Given the description of an element on the screen output the (x, y) to click on. 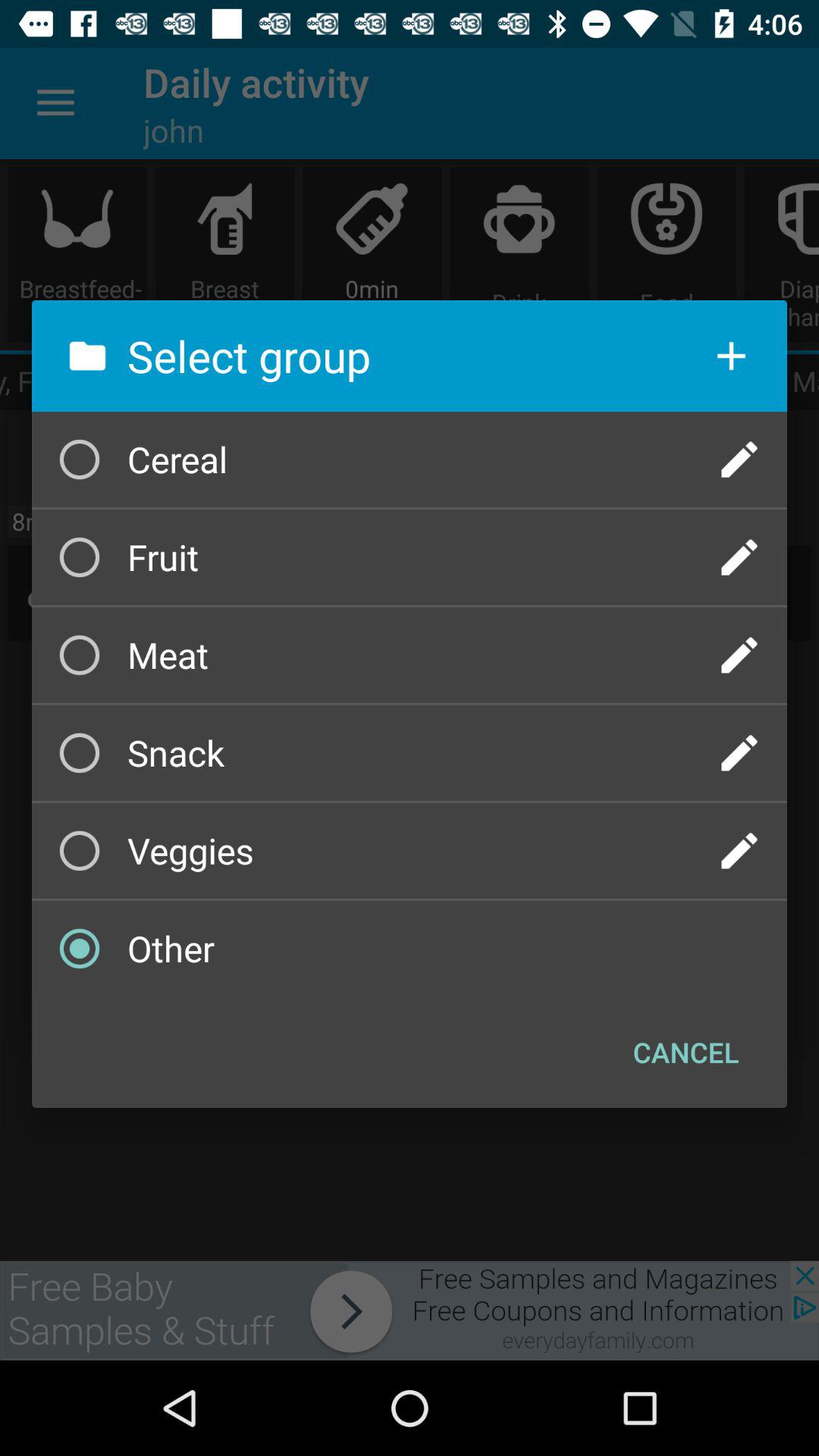
write in description (739, 850)
